Given the description of an element on the screen output the (x, y) to click on. 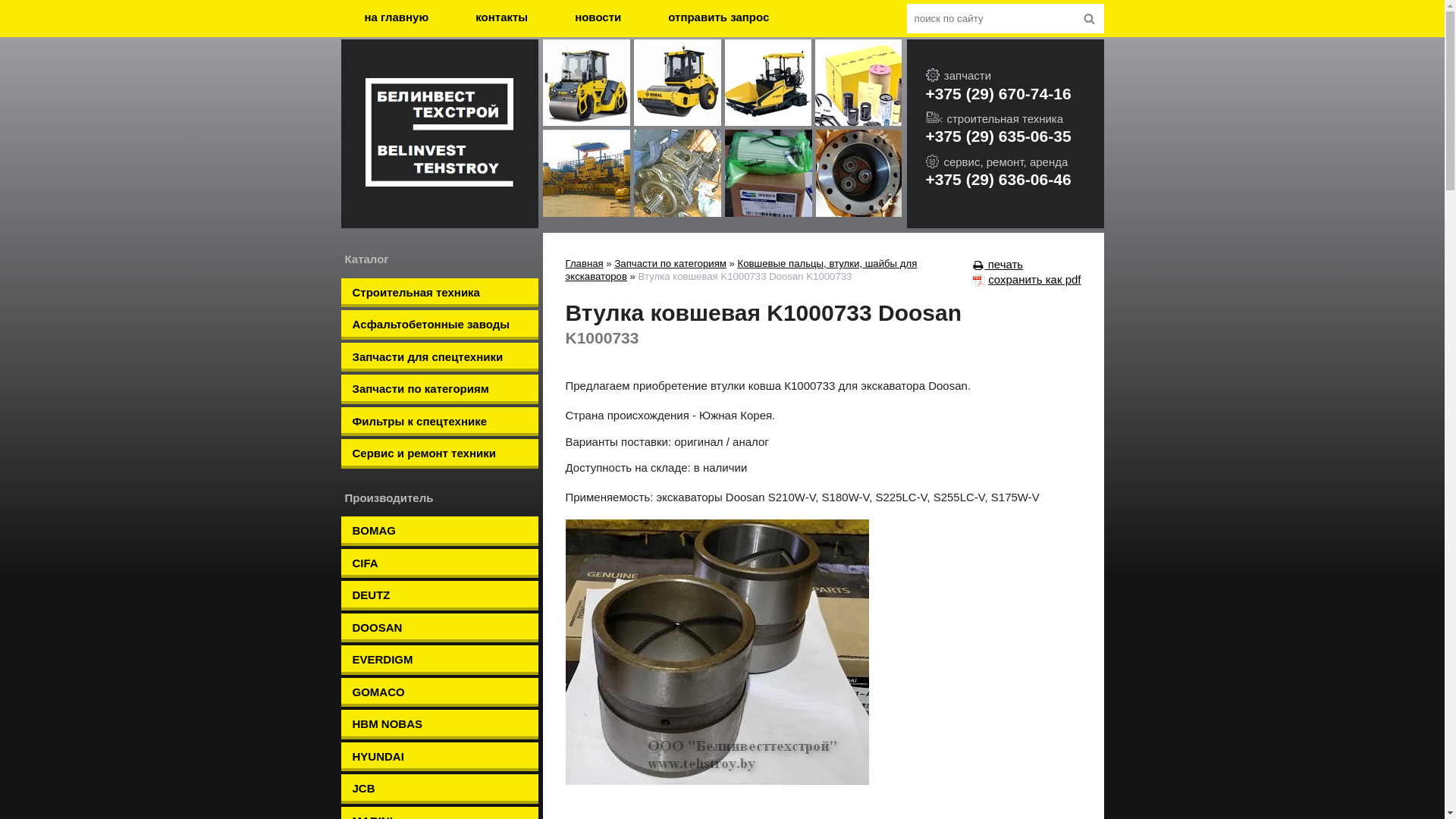
HYUNDAI Element type: text (439, 756)
GOMACO Element type: text (439, 692)
BOMAG Element type: text (439, 531)
CIFA Element type: text (439, 563)
HBM NOBAS Element type: text (439, 724)
DEUTZ Element type: text (439, 595)
DOOSAN Element type: text (439, 627)
+375 (29) 636-06-46 Element type: text (1014, 179)
EVERDIGM Element type: text (439, 659)
+375 (29) 635-06-35 Element type: text (1014, 135)
+375 (29) 670-74-16 Element type: text (1014, 93)
JCB Element type: text (439, 788)
